Given the description of an element on the screen output the (x, y) to click on. 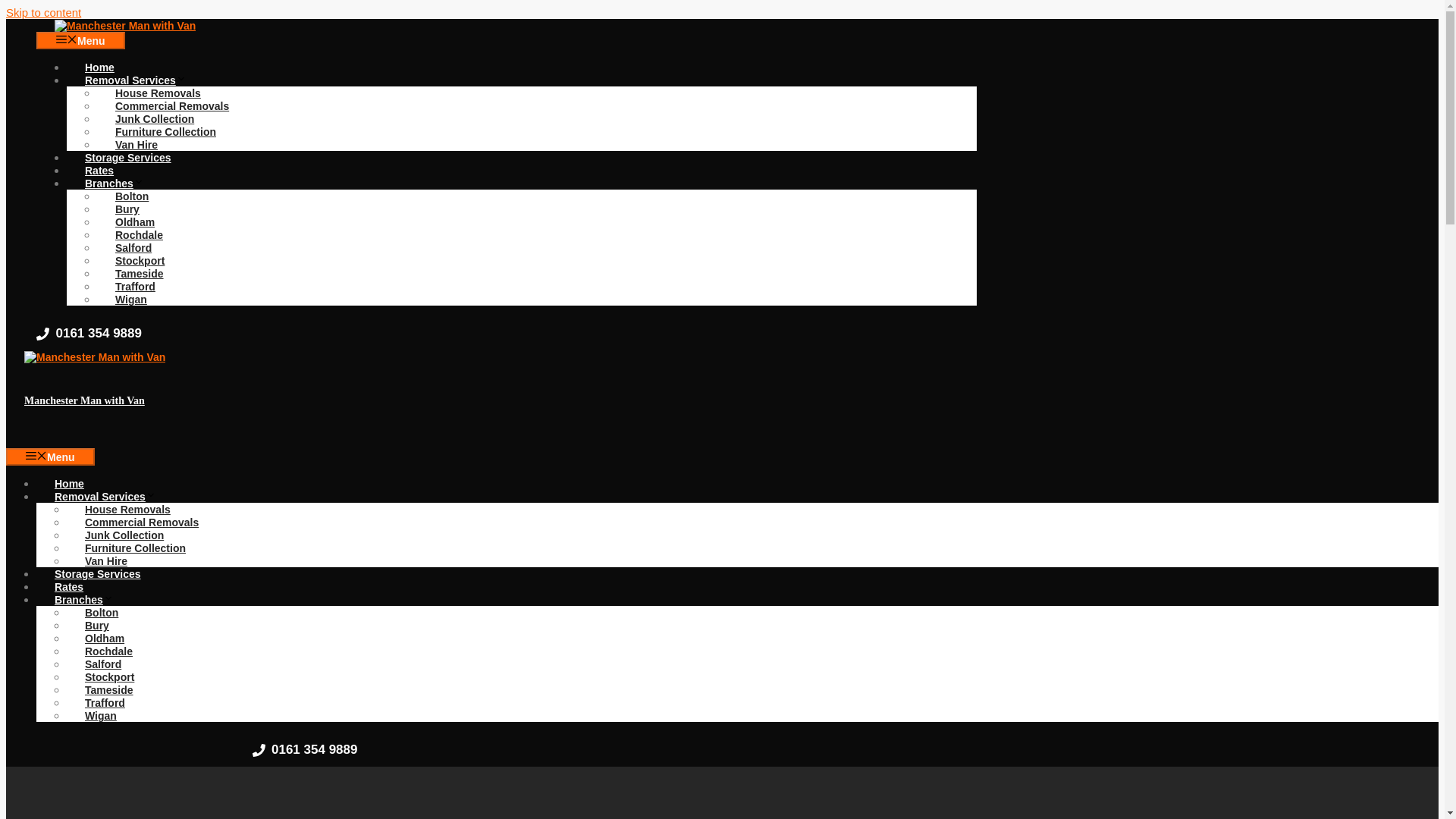
Oldham (135, 221)
Rates (68, 586)
Storage Services (127, 157)
House Removals (158, 93)
Furniture Collection (165, 131)
Furniture Collection (134, 547)
Man and van in Bolton (132, 196)
Man and van in Tameside (139, 273)
Man and van in Trafford (135, 286)
Man and van in Bury (127, 208)
Man and van in Stockport (140, 260)
Menu (80, 40)
Manchester Man with Van (84, 400)
Removal Services (144, 80)
Rochdale (138, 235)
